Given the description of an element on the screen output the (x, y) to click on. 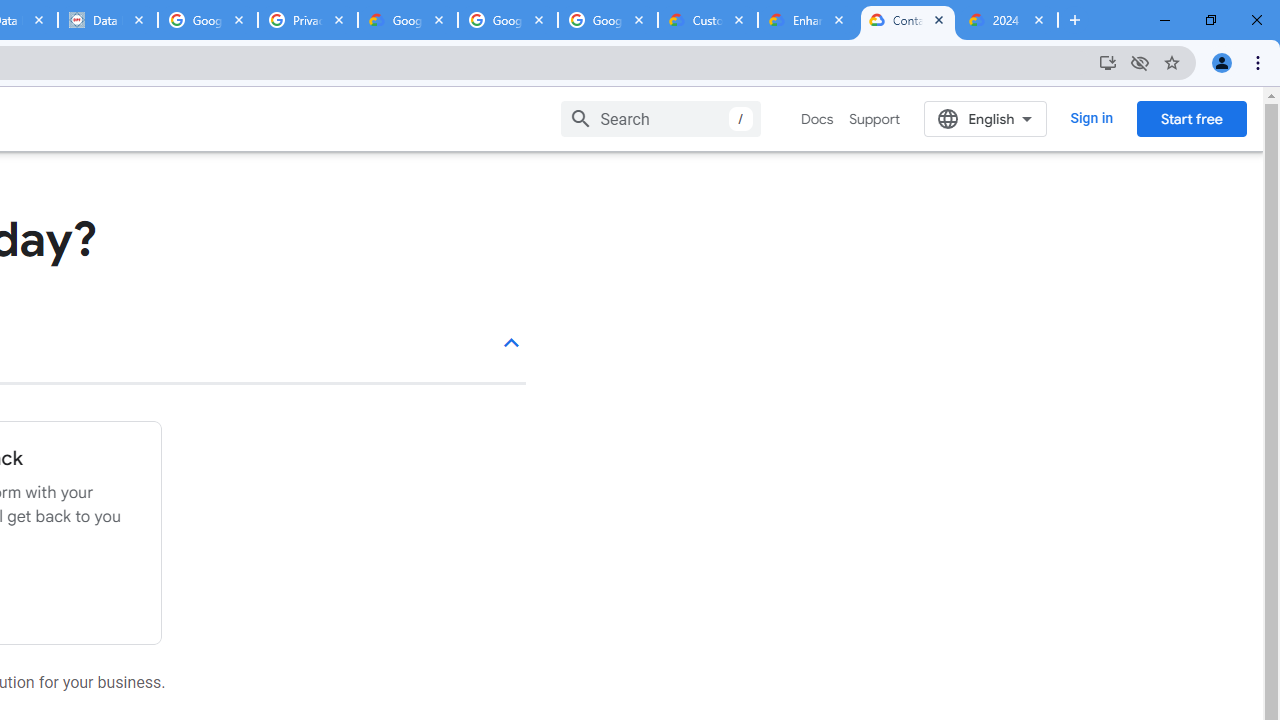
Customer Care | Google Cloud (707, 20)
Google Workspace - Specific Terms (607, 20)
Start free (1191, 118)
Support (874, 119)
